Given the description of an element on the screen output the (x, y) to click on. 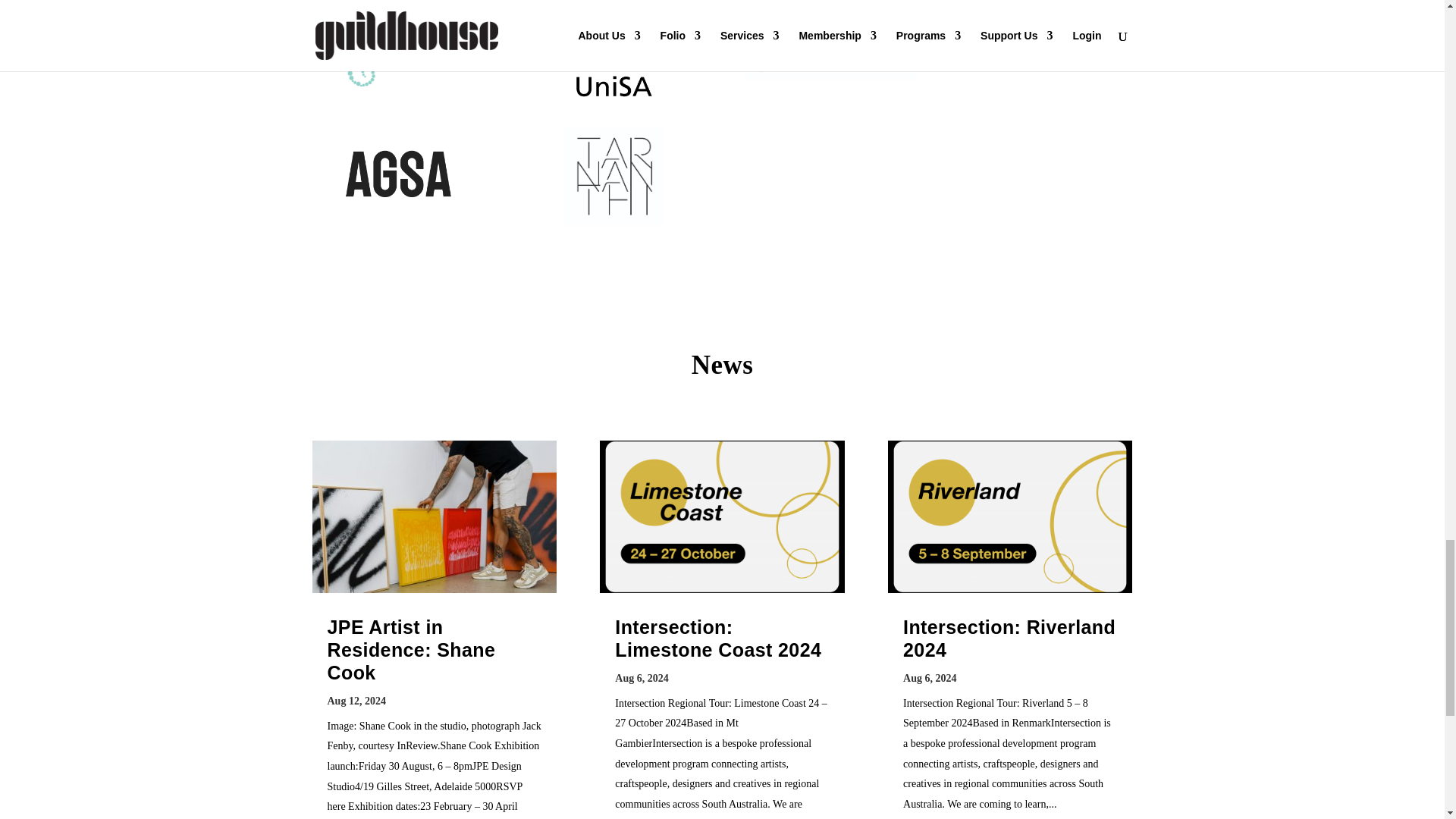
Intersection: Limestone Coast 2024 (717, 638)
JPE Artist in Residence: Shane Cook (411, 649)
Intersection: Riverland 2024 (1008, 638)
